Given the description of an element on the screen output the (x, y) to click on. 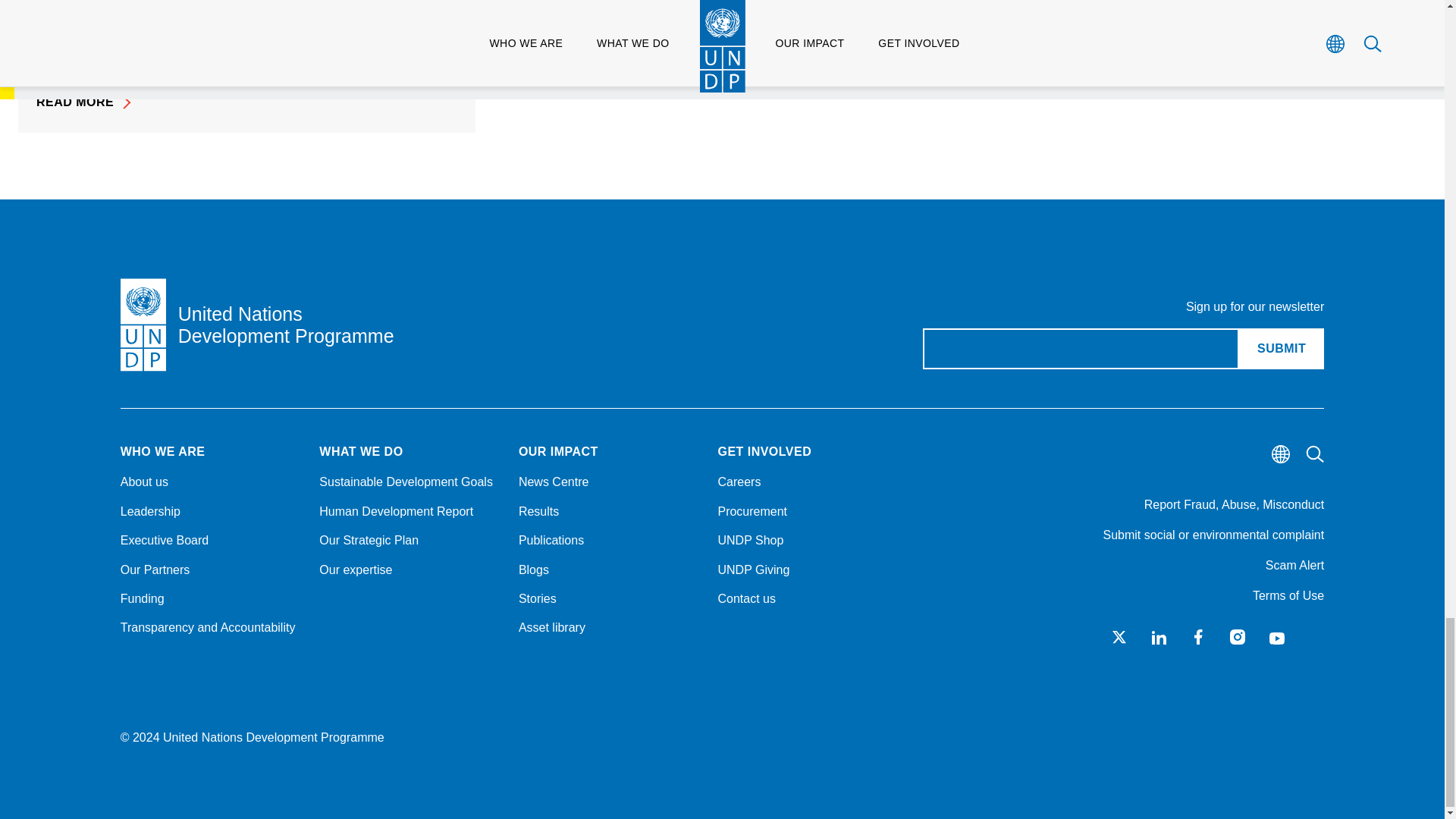
Submit (1281, 348)
Facebook (1198, 636)
Instagram (1237, 636)
X (1119, 636)
YouTube (1276, 636)
Linkedin (1158, 636)
